Given the description of an element on the screen output the (x, y) to click on. 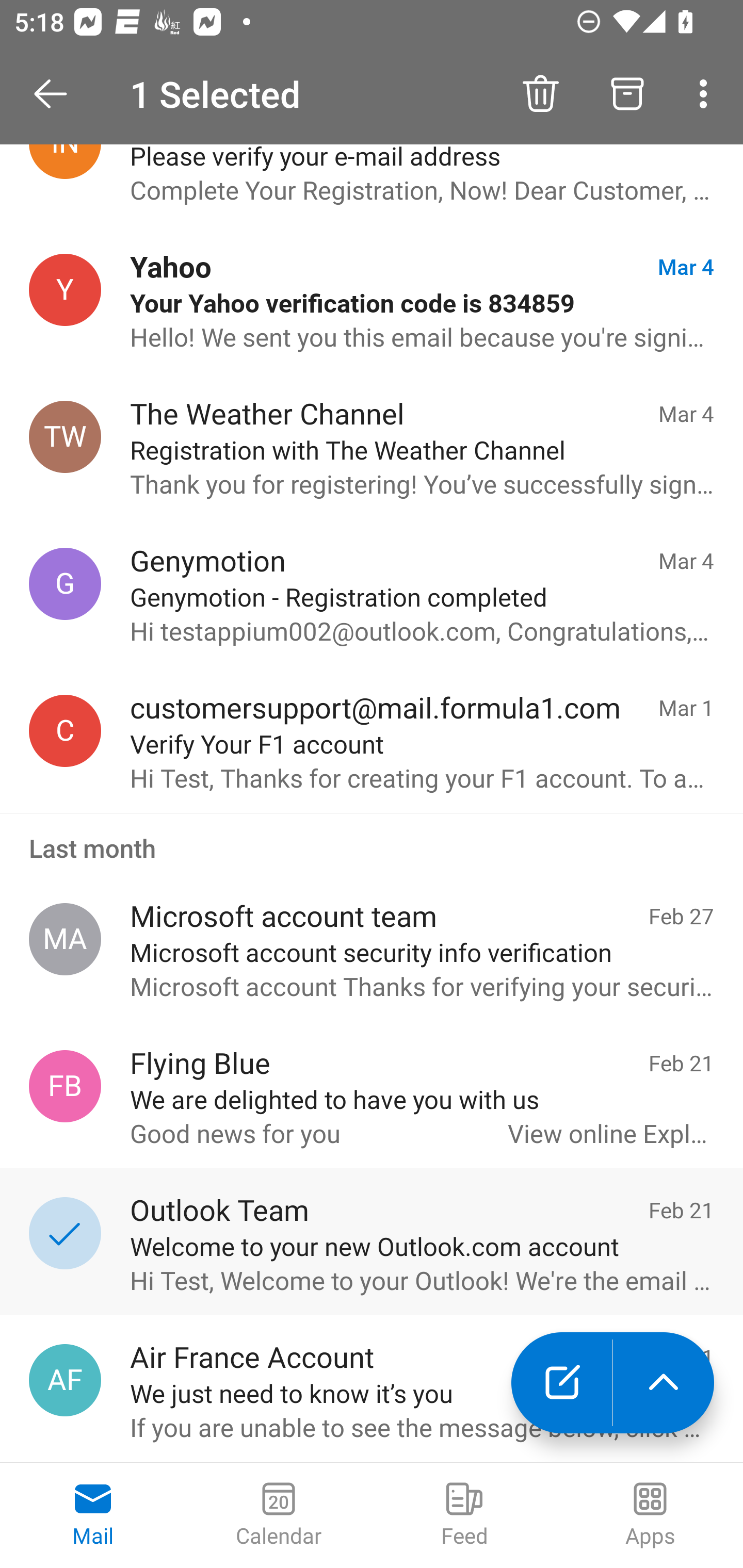
Delete (540, 93)
Archive (626, 93)
More options (706, 93)
Open Navigation Drawer (57, 94)
Yahoo, no-reply@cc.yahoo-inc.com (64, 290)
The Weather Channel, noreply@weather.com (64, 437)
Genymotion, genymotion-activation@genymobile.com (64, 583)
Flying Blue, do_not_reply@info-flyingblue.com (64, 1086)
New mail (561, 1382)
launch the extended action menu (663, 1382)
Air France Account, account@infos-airfrance.com (64, 1379)
Calendar (278, 1515)
Feed (464, 1515)
Apps (650, 1515)
